Given the description of an element on the screen output the (x, y) to click on. 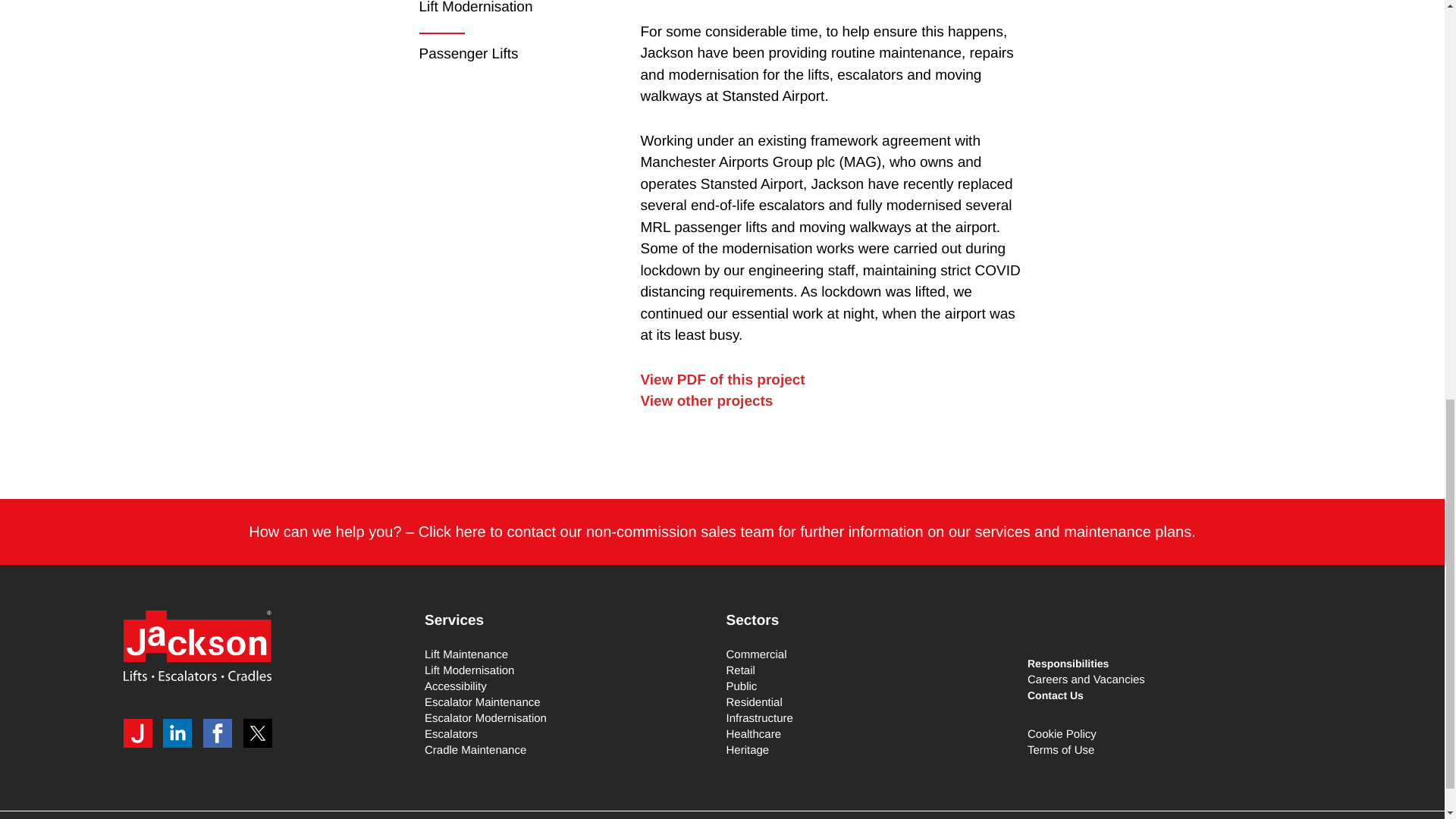
Contact Jackson Lifts (721, 531)
Jackson Lifts on LinkedIn (181, 733)
Jackson Lifts on Facebook (221, 733)
Jackson Lifts on Twitter (261, 733)
My Jackson (140, 733)
